Given the description of an element on the screen output the (x, y) to click on. 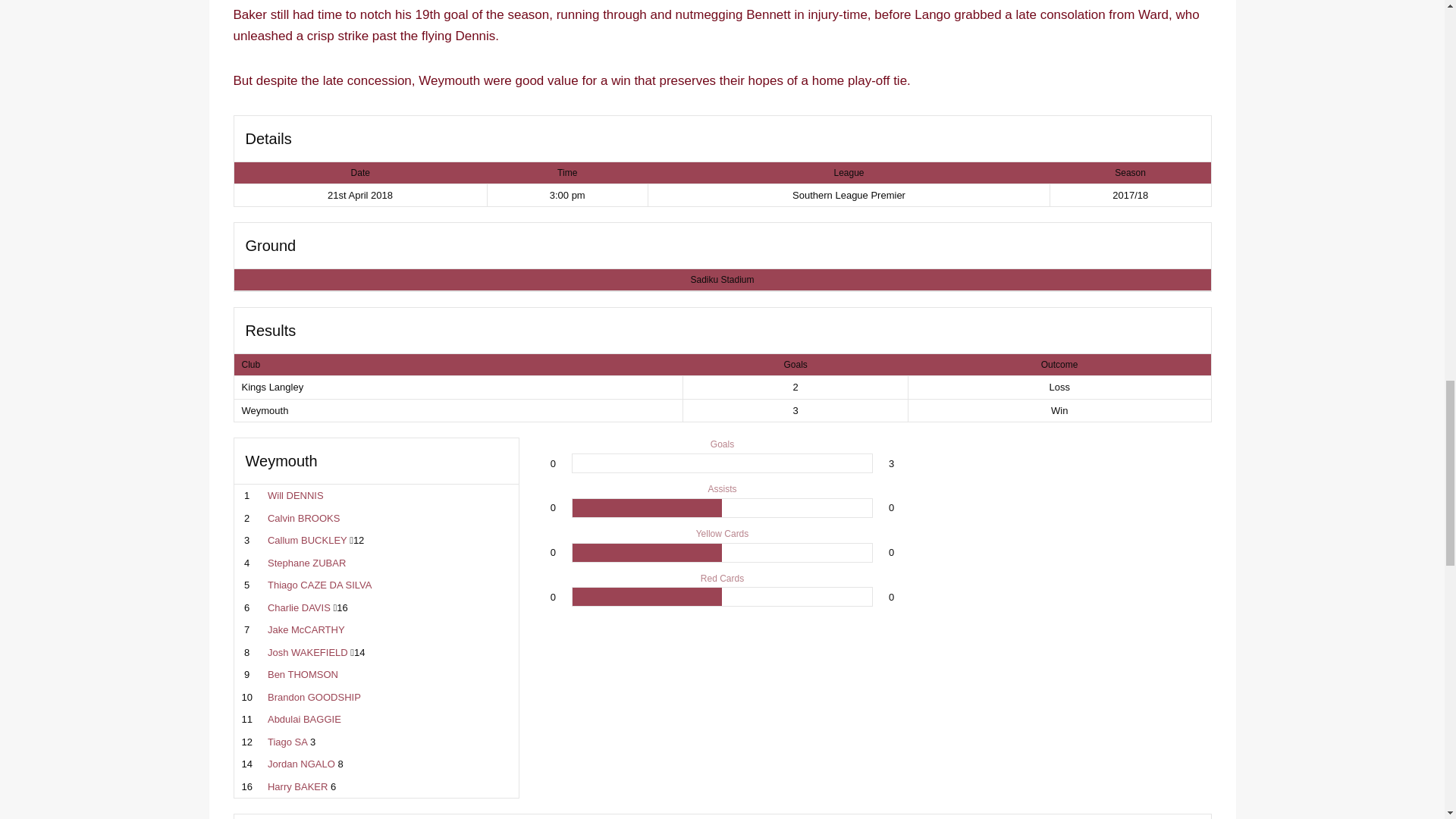
Jordan NGALO (357, 652)
Harry BAKER (721, 387)
Tiago SA (340, 607)
